Given the description of an element on the screen output the (x, y) to click on. 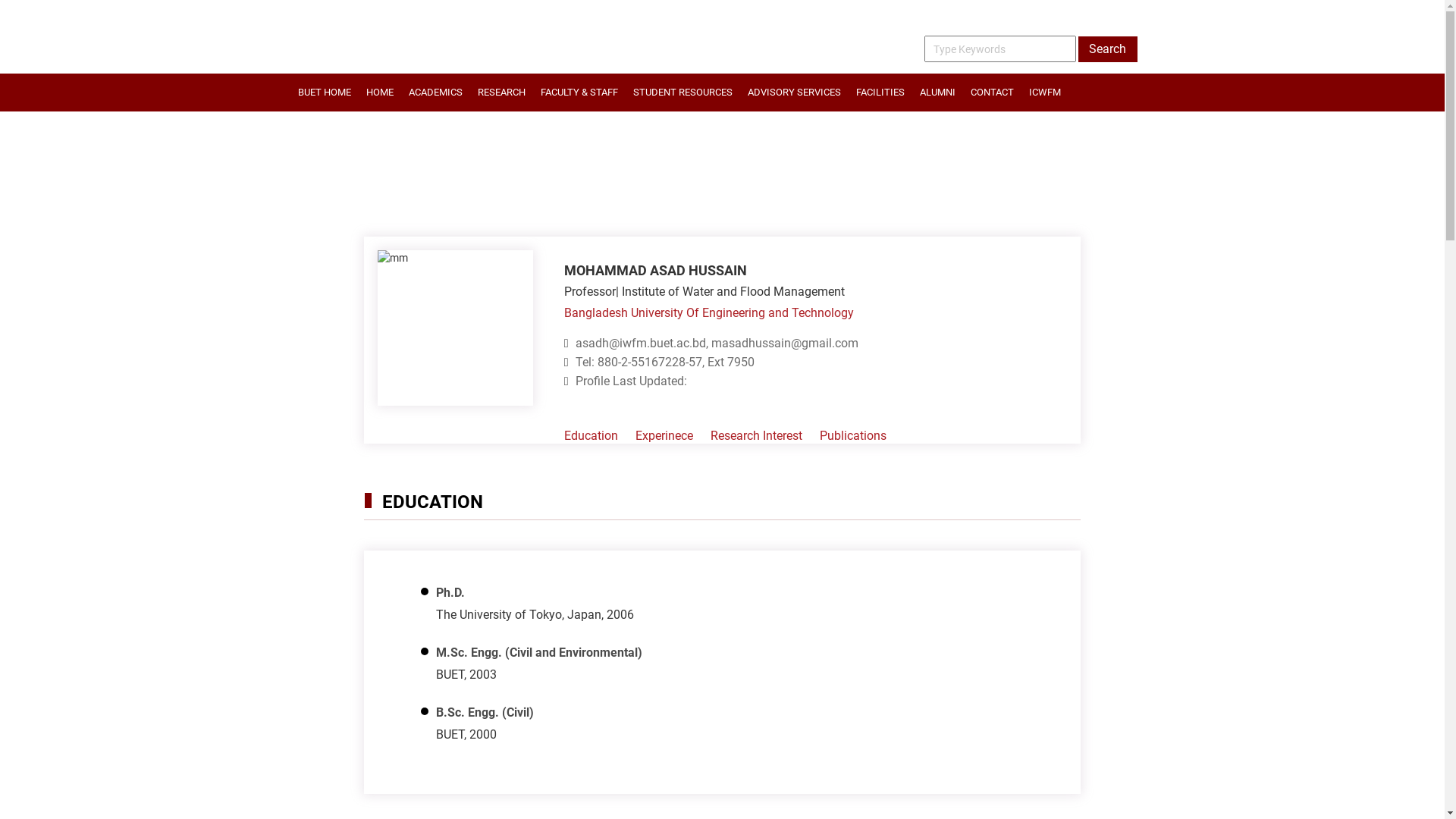
ICWFM Element type: text (1043, 92)
Research Interest Element type: text (756, 435)
RESEARCH Element type: text (501, 92)
ADVISORY SERVICES Element type: text (794, 92)
HOME Element type: text (378, 92)
FACILITIES Element type: text (879, 92)
Publications Element type: text (852, 435)
FACULTY & STAFF Element type: text (578, 92)
Experinece Element type: text (664, 435)
CONTACT Element type: text (992, 92)
ACADEMICS Element type: text (434, 92)
STUDENT RESOURCES Element type: text (681, 92)
ALUMNI Element type: text (936, 92)
Search Element type: text (1107, 49)
Education Element type: text (591, 435)
BUET HOME Element type: text (323, 92)
